Given the description of an element on the screen output the (x, y) to click on. 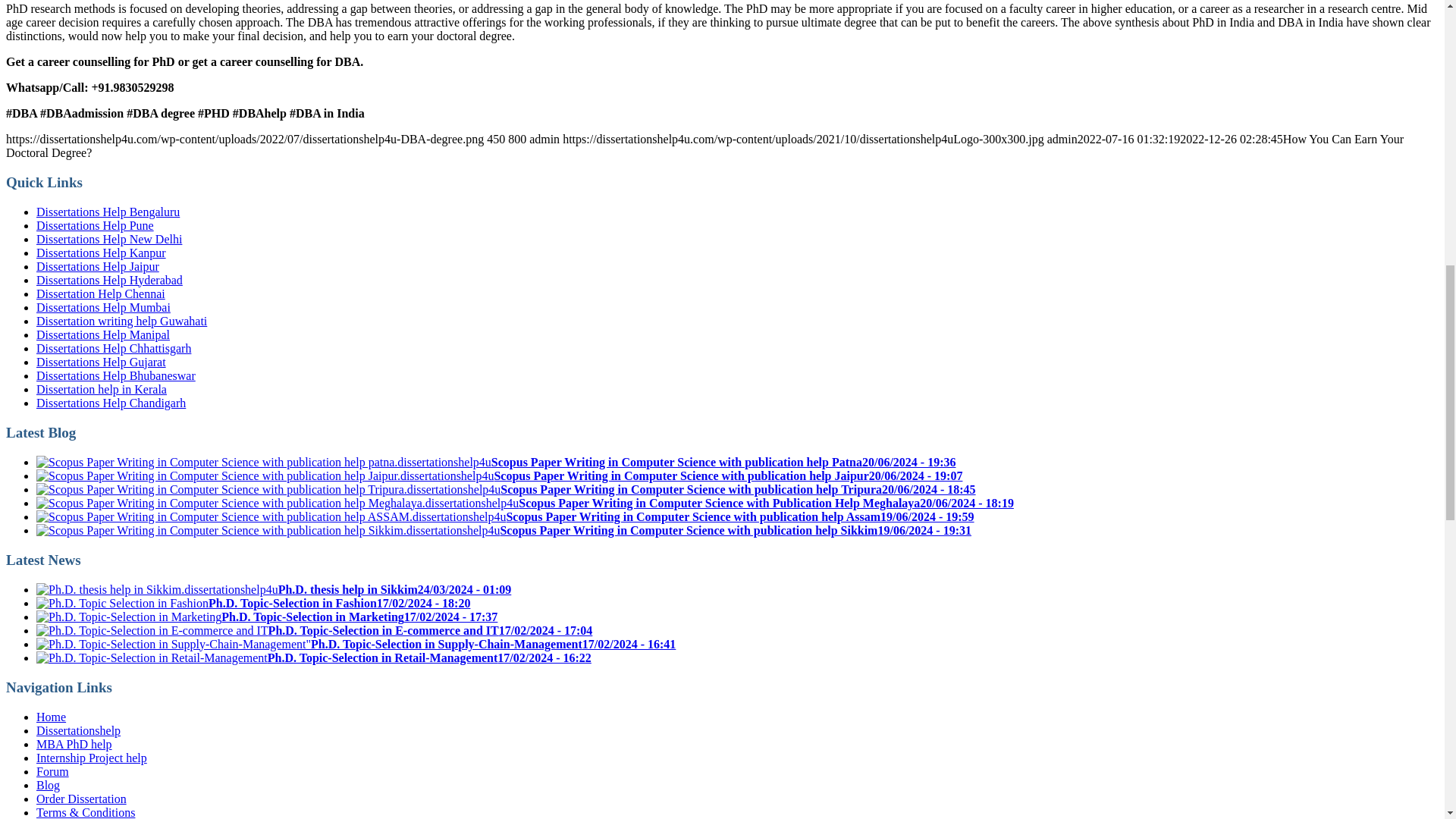
Dissertations Help Manipal (103, 334)
Dissertation help in Kerala (101, 389)
Dissertations Help Pune (95, 225)
Dissertation Help Chennai (100, 293)
Dissertations Help New Delhi (109, 238)
Dissertations Help Kanpur (100, 252)
Dissertations Help Gujarat (100, 361)
Dissertations Help Hyderabad (109, 279)
Dissertations Help Mumbai (103, 307)
Dissertations Help Bengaluru (107, 211)
Dissertations Help Bhubaneswar (115, 375)
